Given the description of an element on the screen output the (x, y) to click on. 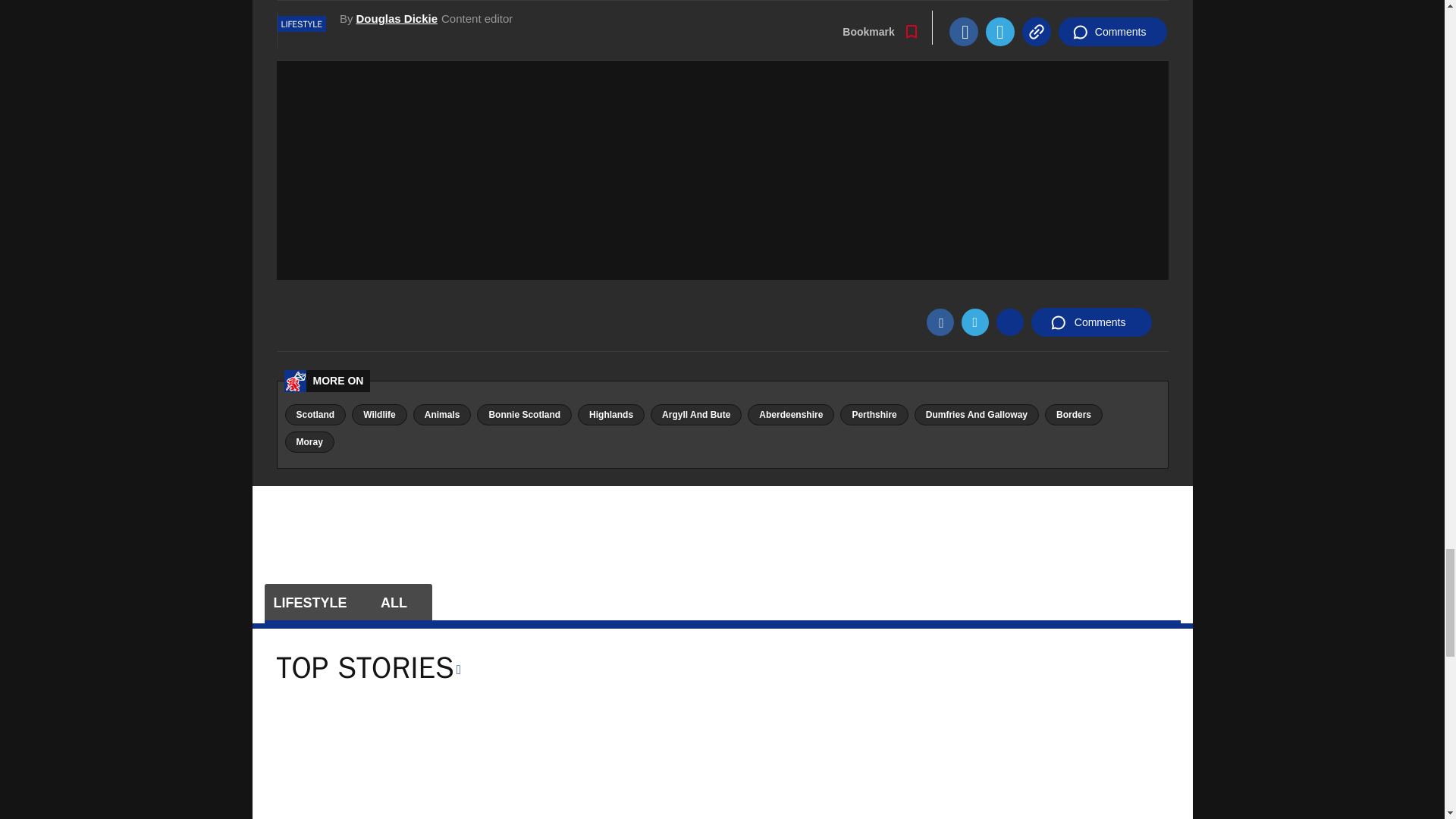
Facebook (939, 321)
